Given the description of an element on the screen output the (x, y) to click on. 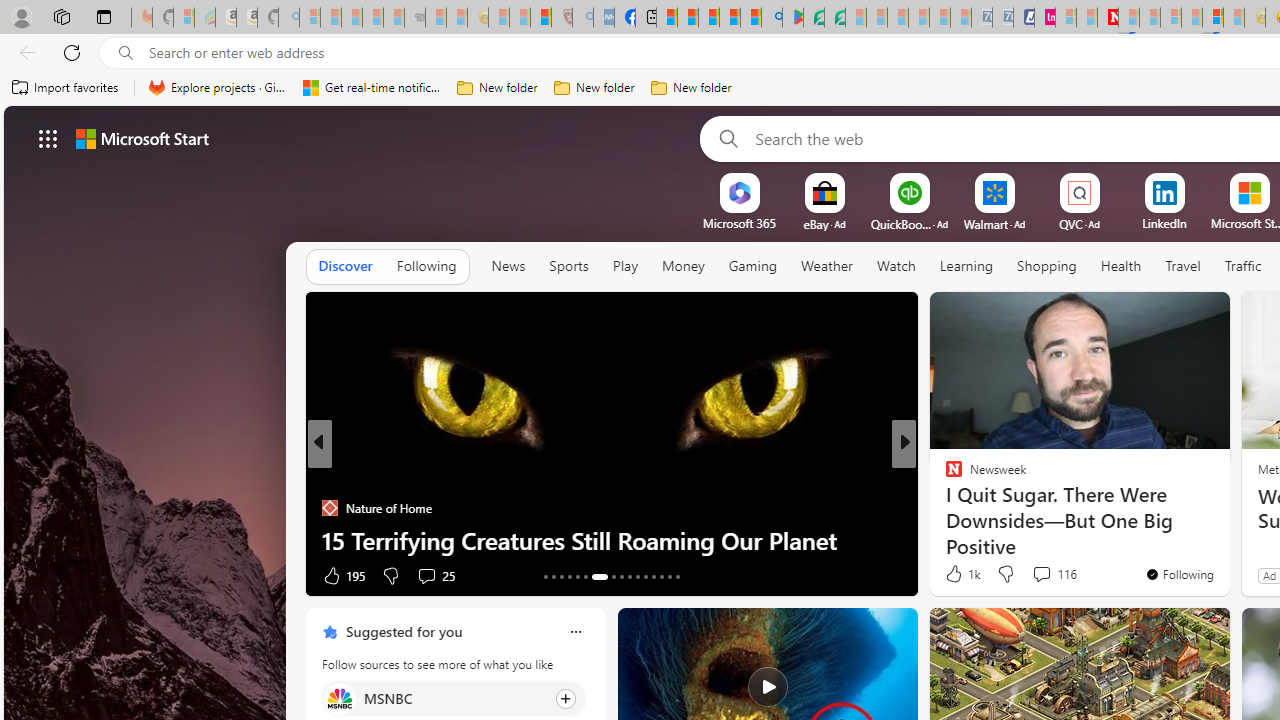
CNBC (944, 475)
AutomationID: tab-22 (628, 576)
View comments 84 Comment (1051, 574)
Combat Siege (414, 17)
Trusted Community Engagement and Contributions | Guidelines (1128, 17)
Cheap Car Rentals - Save70.com - Sleeping (981, 17)
AutomationID: tab-17 (577, 576)
View comments 134 Comment (1036, 575)
Recipes - MSN - Sleeping (499, 17)
